Given the description of an element on the screen output the (x, y) to click on. 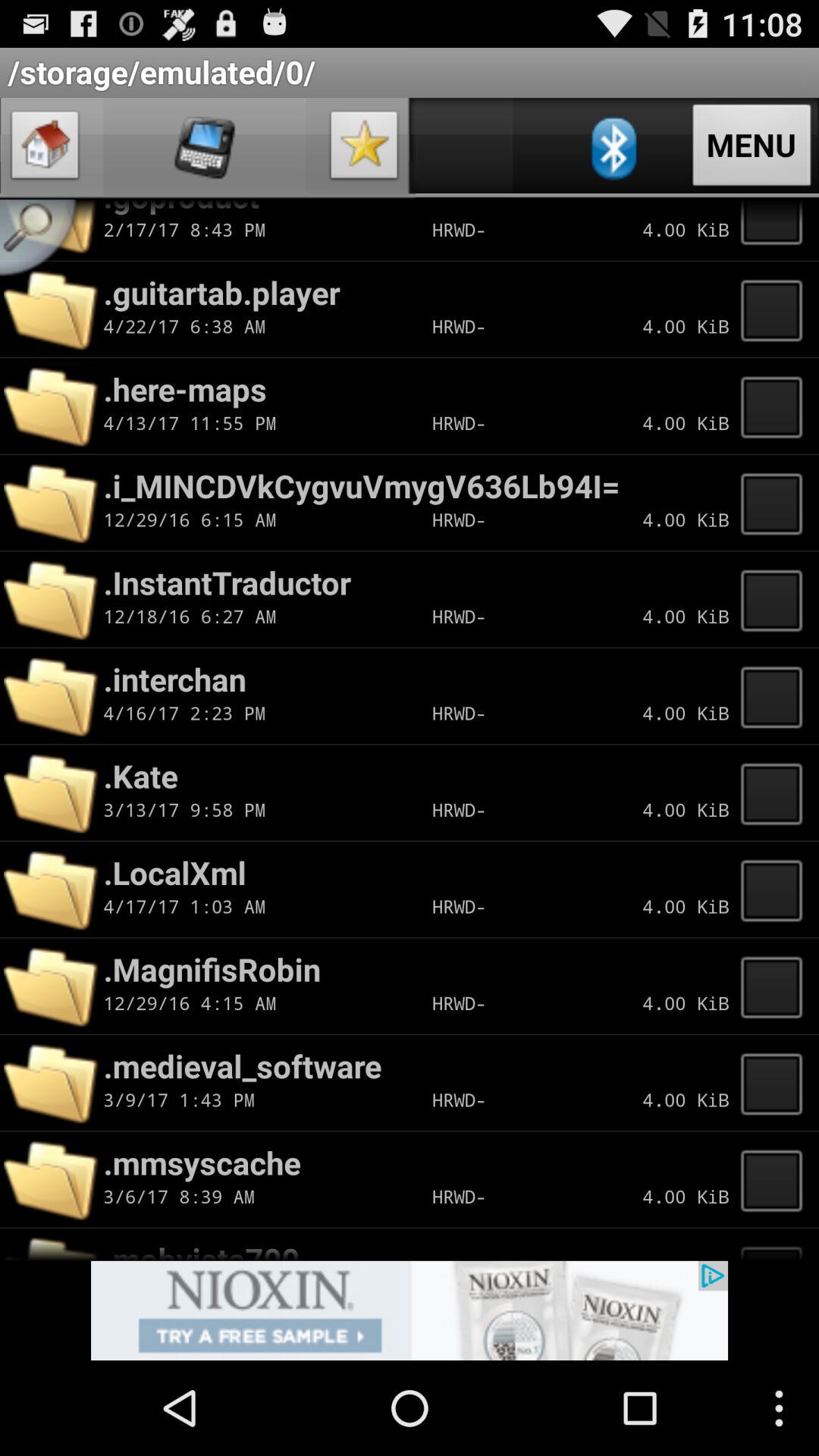
file option (776, 405)
